Given the description of an element on the screen output the (x, y) to click on. 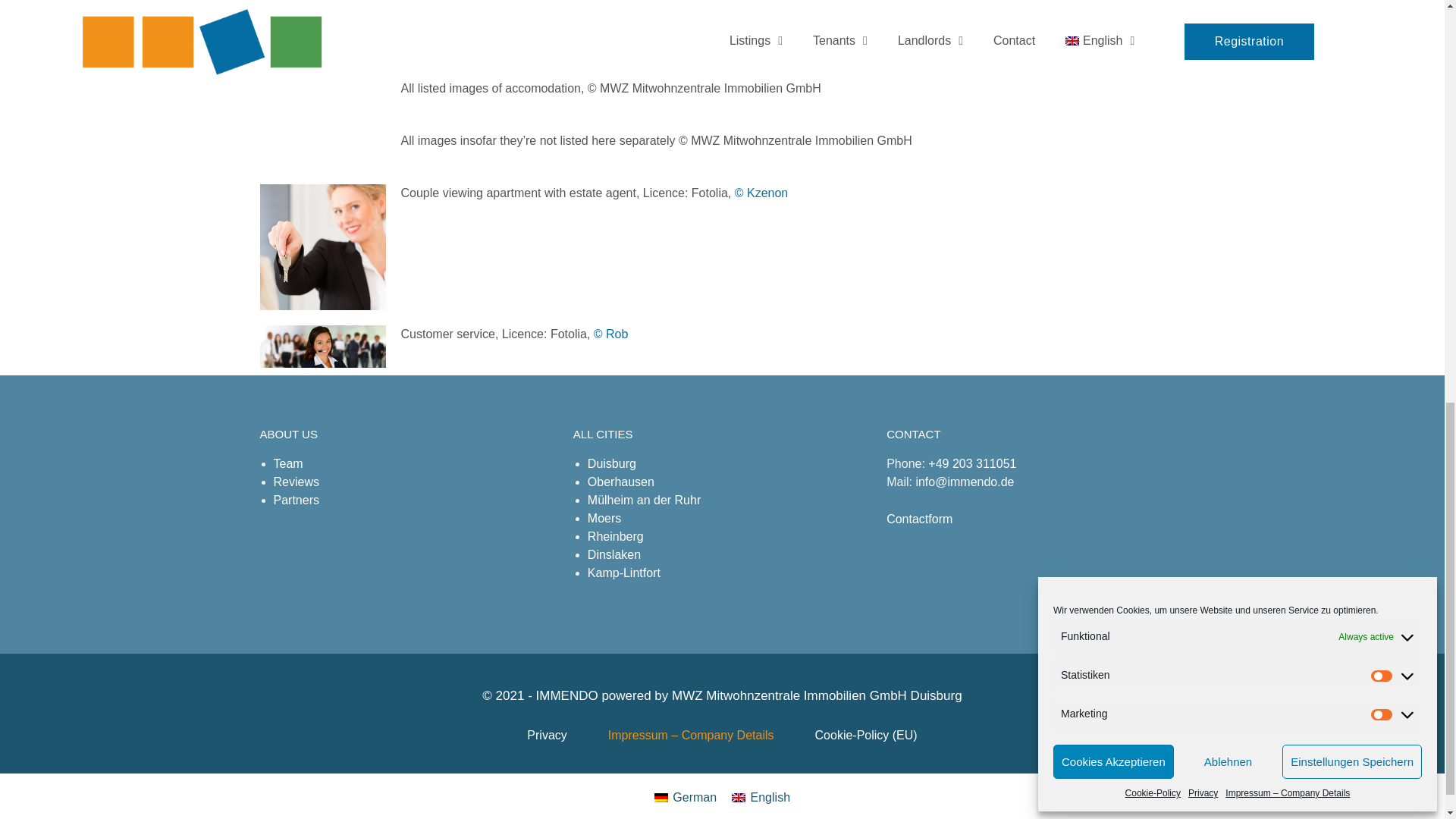
Sehen Sie weitere Bilder von diesem Anbieter (611, 333)
Sehen Sie weitere Bilder von diesem Anbieter (762, 192)
